Given the description of an element on the screen output the (x, y) to click on. 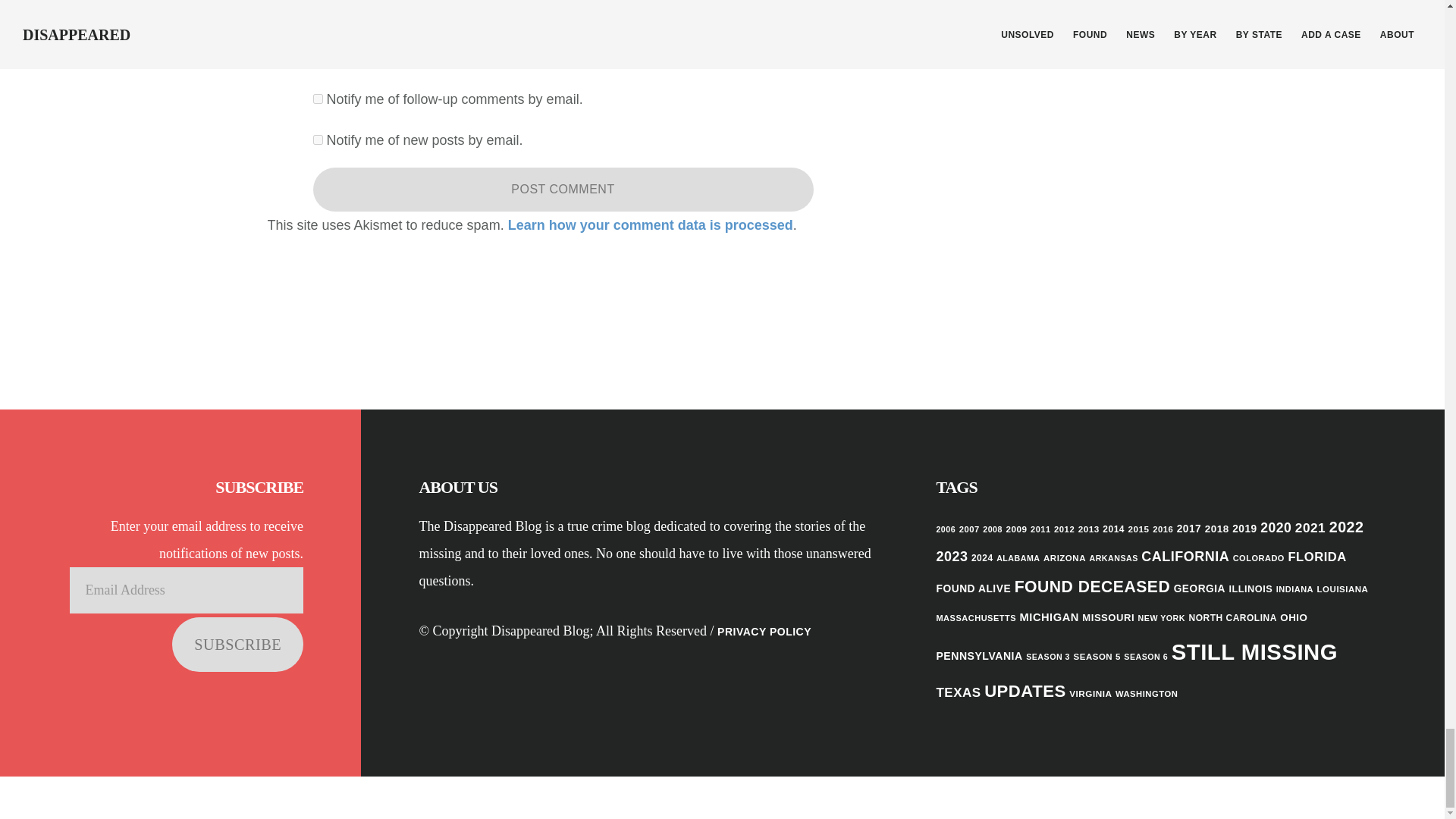
Post Comment (562, 189)
subscribe (317, 139)
subscribe (317, 99)
